Given the description of an element on the screen output the (x, y) to click on. 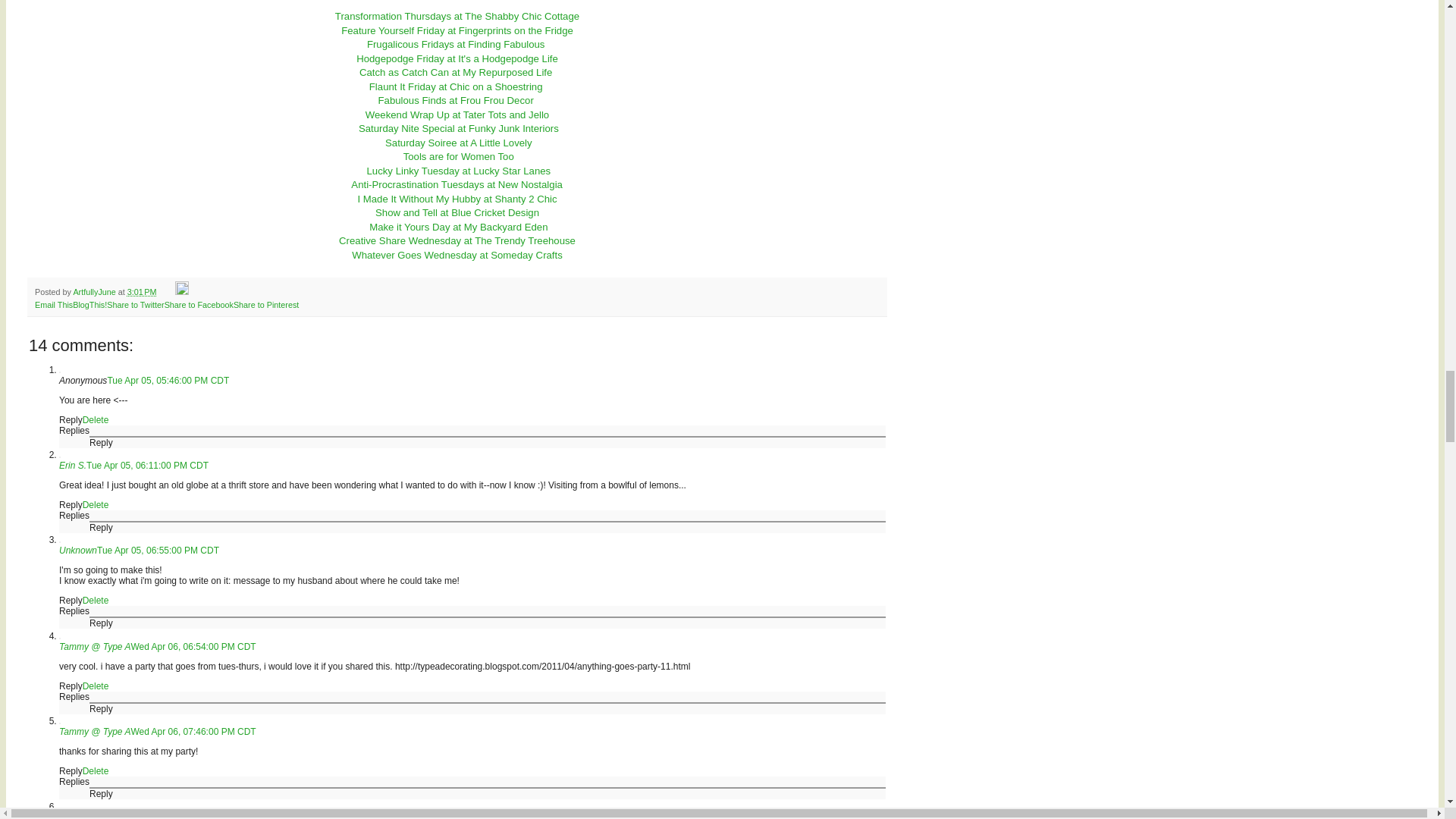
Share to Facebook (198, 304)
Show and Tell at Blue Cricket Design (456, 212)
Whatever Goes Wednesday at Someday Crafts (457, 255)
Make it Yours Day at My Backyard Eden (458, 226)
ArtfullyJune (94, 291)
Weekend Wrap Up at Tater Tots and Jello (456, 114)
Share to Pinterest (265, 304)
Transformation Thursdays at The Shabby Chic Cottage (456, 16)
permanent link (142, 291)
Fabulous Finds at Frou Frou Decor (456, 100)
Delete (95, 419)
Lucky Linky Tuesday at Lucky Star Lanes (458, 170)
Edit Post (181, 291)
Creative Share Wednesday at The Trendy Treehouse (457, 240)
Email Post (166, 291)
